Given the description of an element on the screen output the (x, y) to click on. 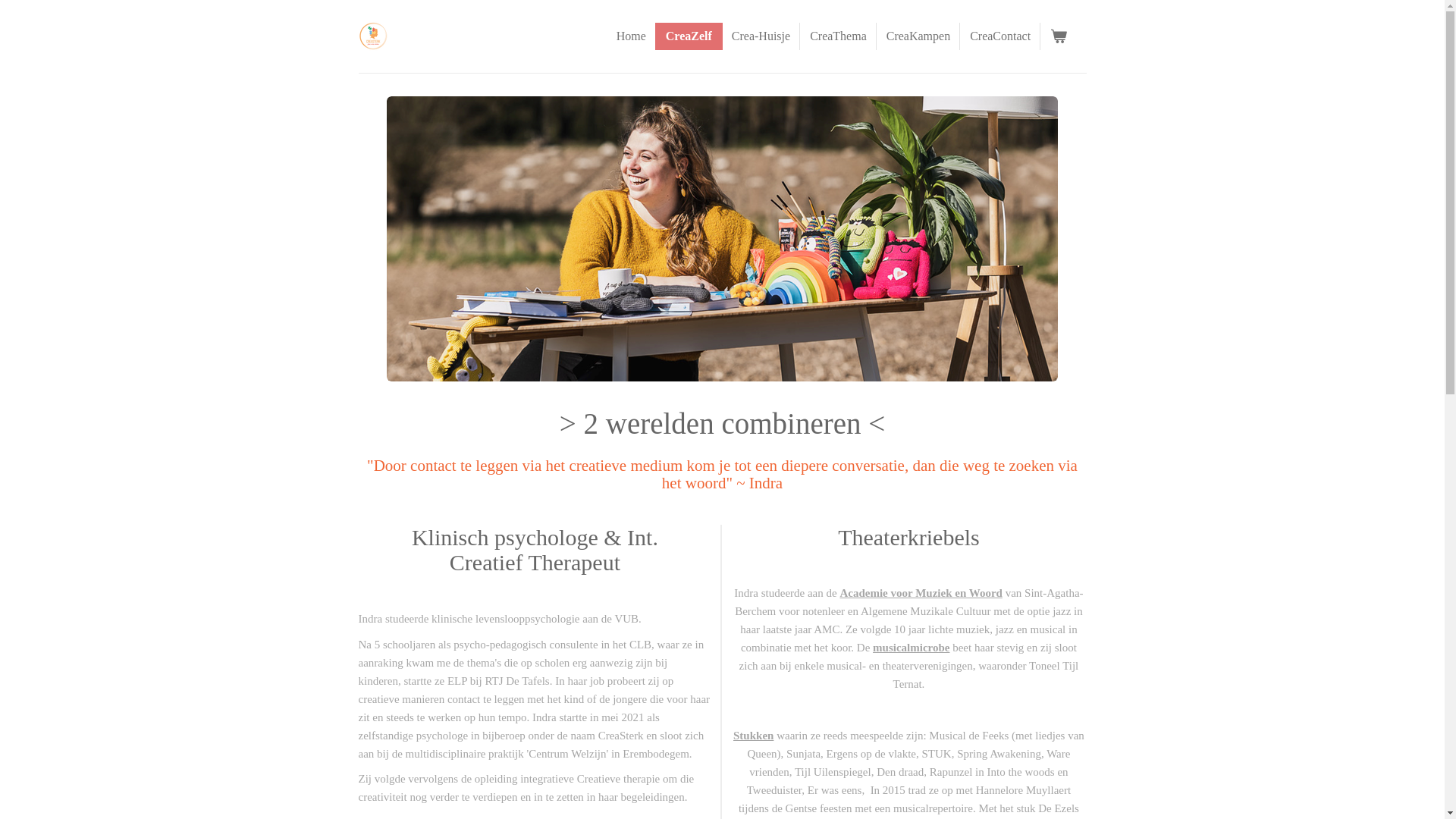
CreaSterk Element type: hover (371, 35)
Bekijk winkelwagen Element type: hover (1058, 36)
CreaThema Element type: text (838, 36)
CreaKampen Element type: text (918, 36)
CreaContact Element type: text (1000, 36)
CreaZelf Element type: text (688, 36)
Home Element type: text (630, 36)
Crea-Huisje Element type: text (760, 36)
